Given the description of an element on the screen output the (x, y) to click on. 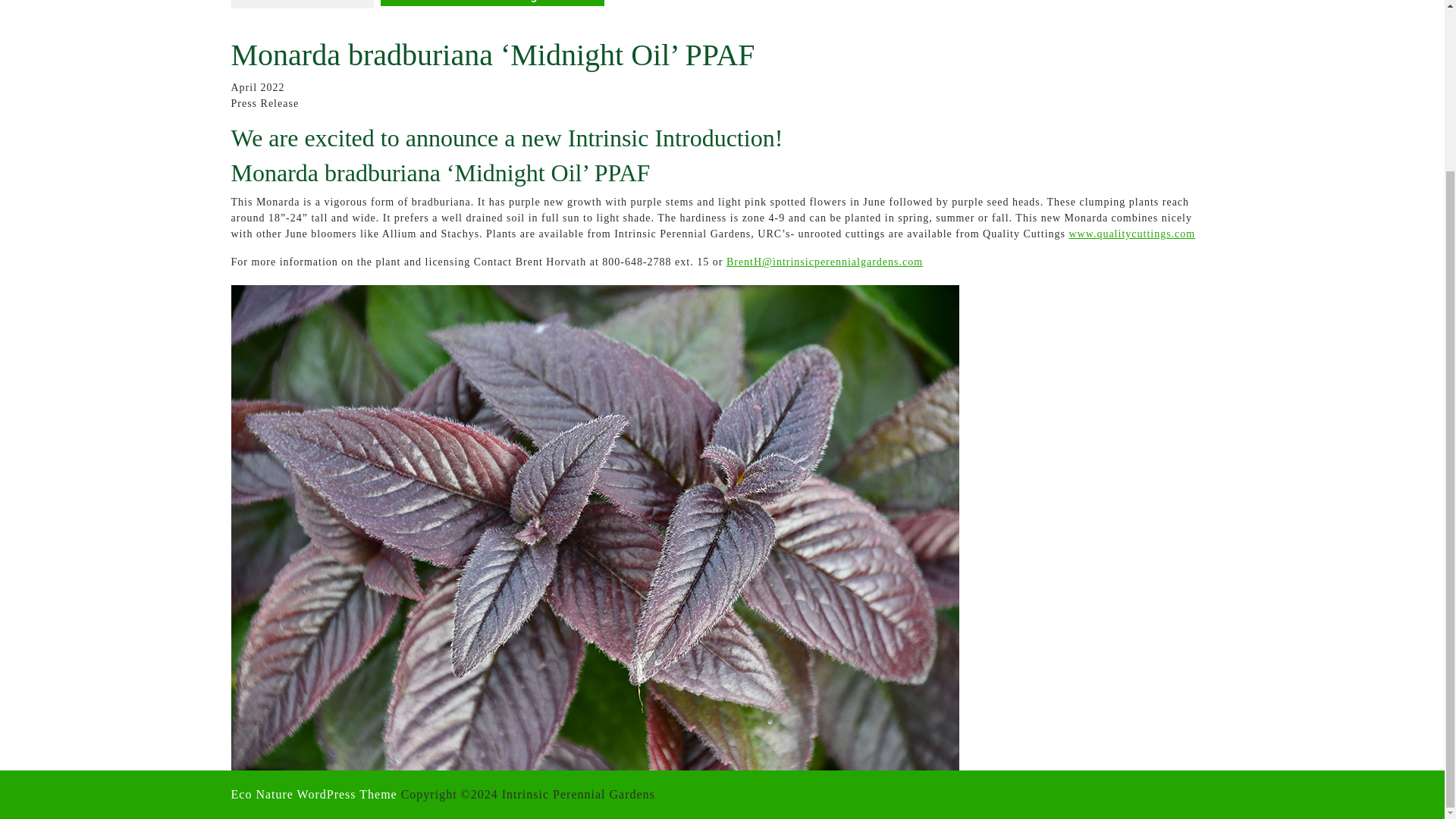
Eco Nature WordPress Theme (313, 793)
www.qualitycuttings.com (1131, 233)
Intrinsic Perennial Gardens (302, 4)
